Given the description of an element on the screen output the (x, y) to click on. 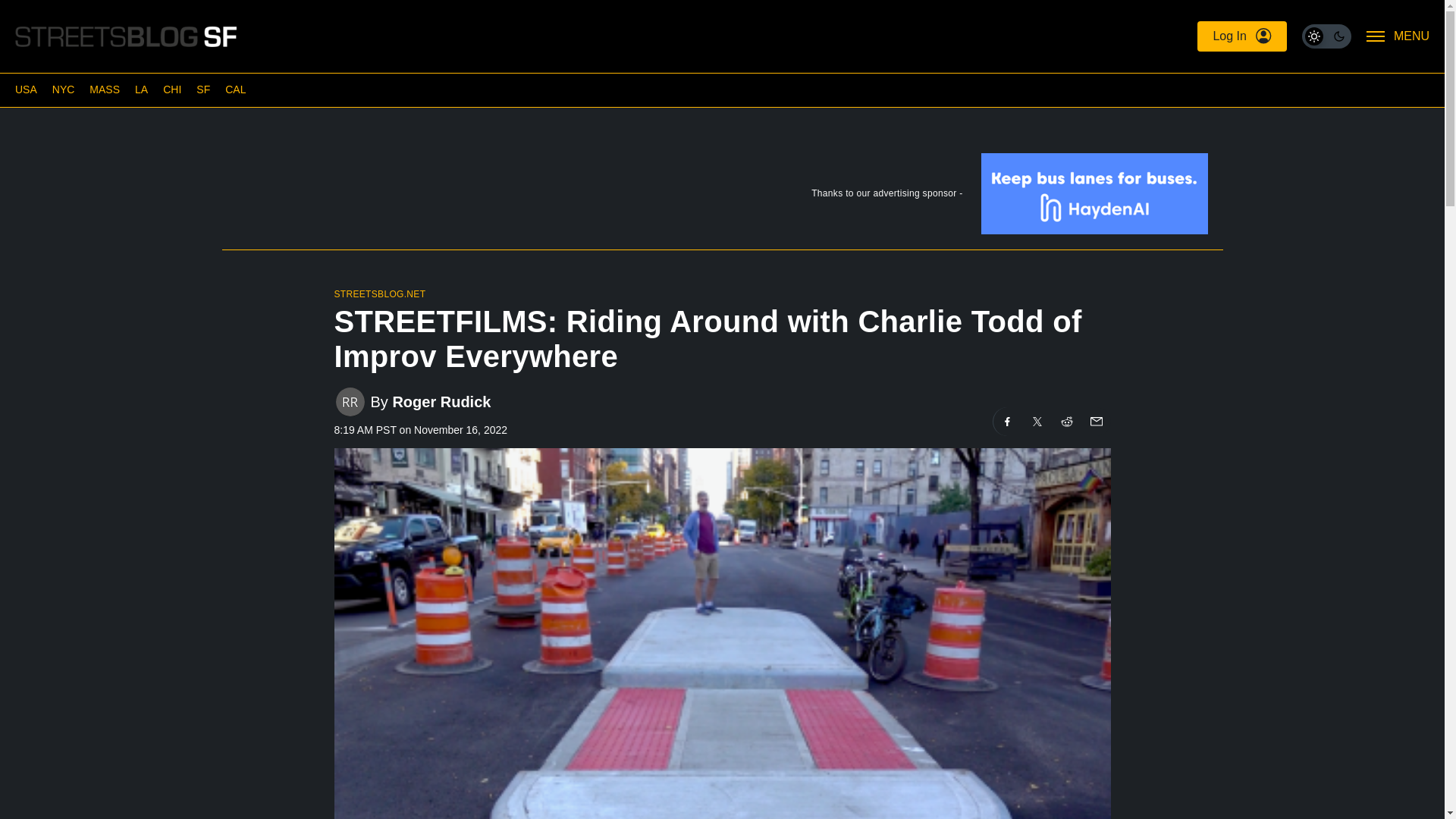
Roger Rudick (440, 401)
Share on Email (1095, 421)
Share on Reddit (1066, 421)
CAL (235, 89)
USA (25, 89)
Share on Facebook (1007, 421)
Log In (1240, 36)
MASS (103, 89)
NYC (63, 89)
Thanks to our advertising sponsor - (721, 196)
CHI (171, 89)
STREETSBLOG.NET (379, 294)
MENU (1398, 36)
